Given the description of an element on the screen output the (x, y) to click on. 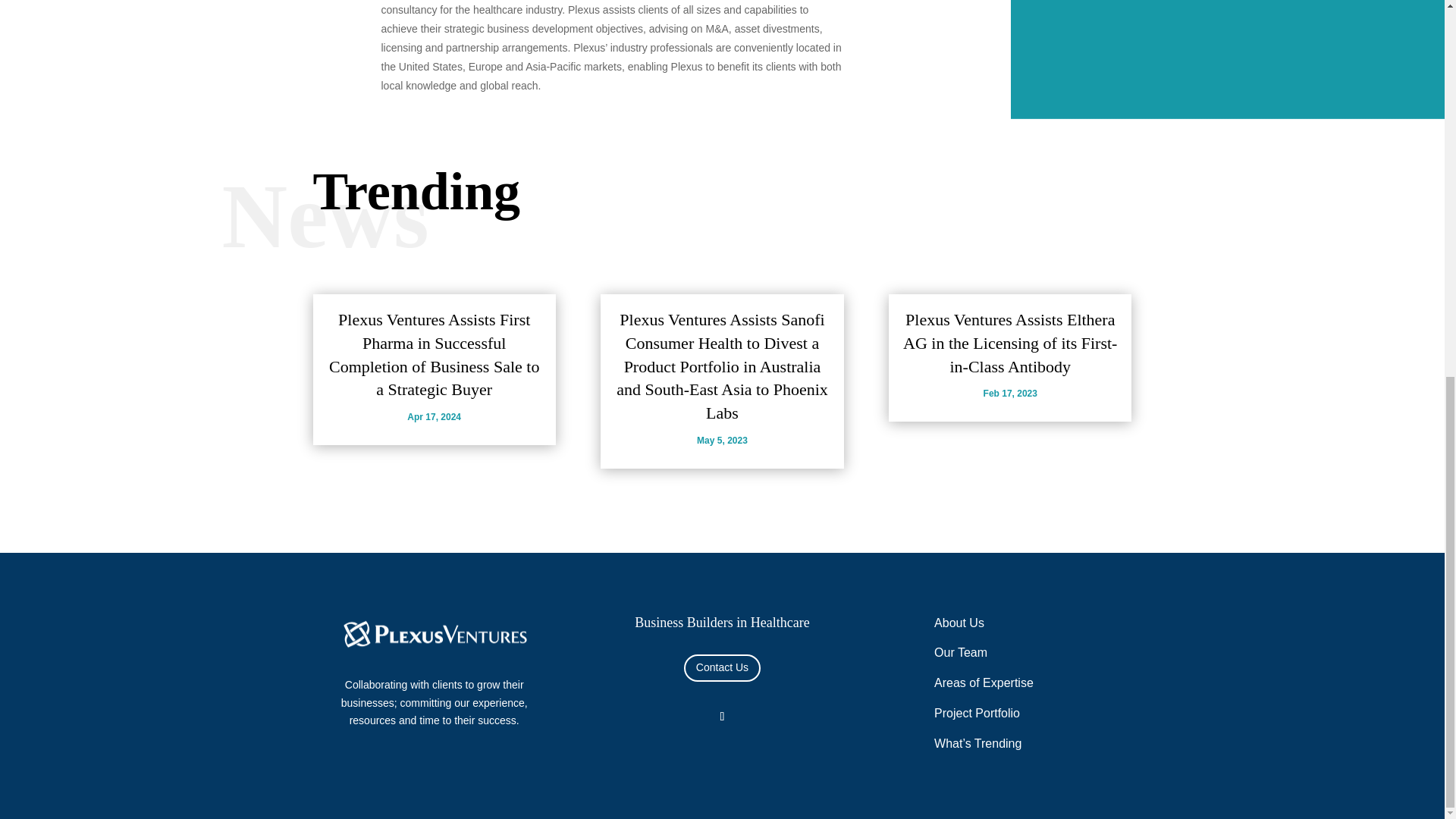
Our Team (960, 652)
Areas of Expertise (983, 682)
About Us (959, 622)
Project Portfolio (977, 712)
Contact Us (722, 667)
Follow on LinkedIn (721, 716)
